Given the description of an element on the screen output the (x, y) to click on. 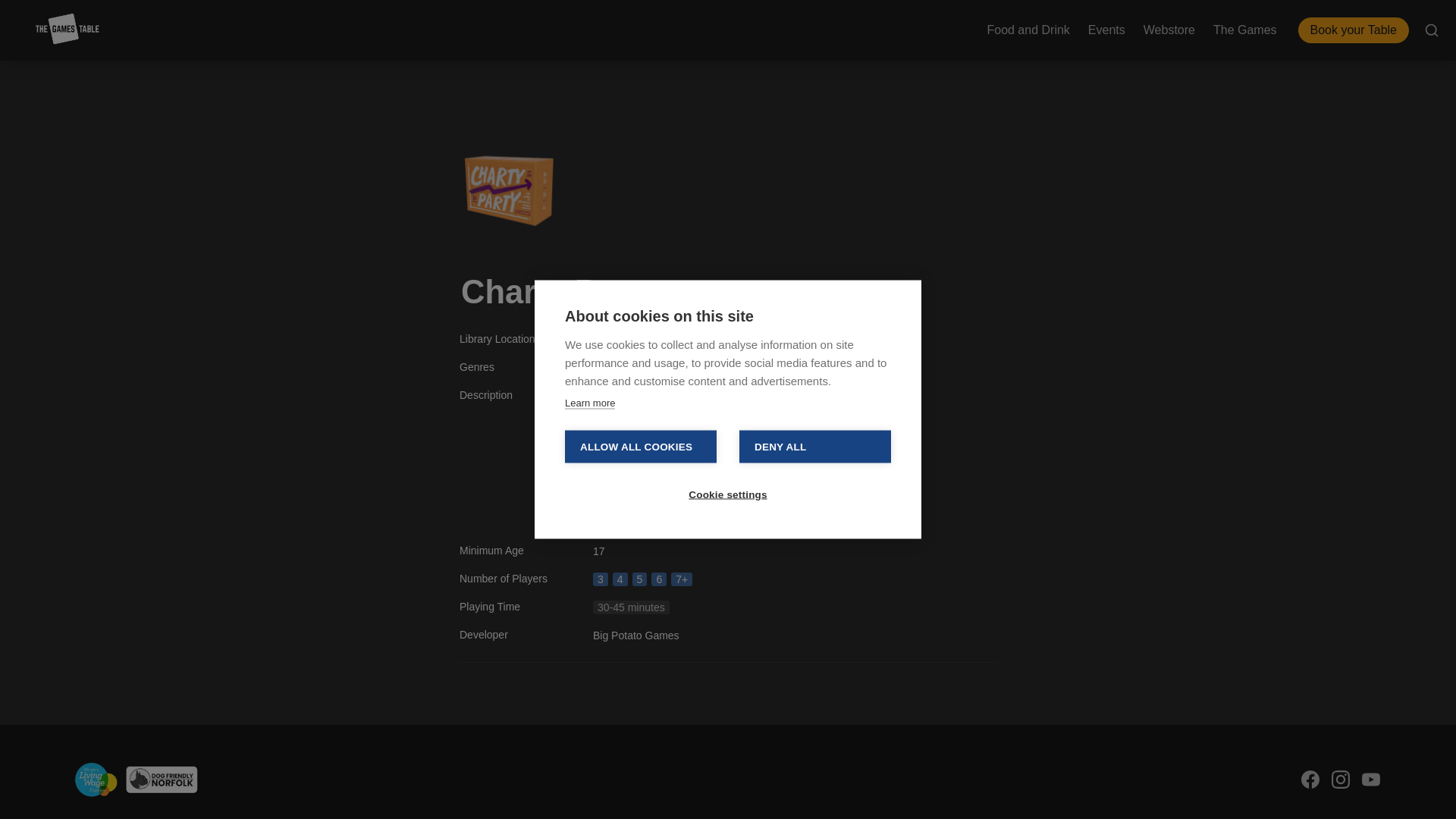
Privacy Policy (219, 817)
DENY ALL (815, 446)
Book your Table (1356, 30)
Legal Disclaimers (121, 817)
Facebook (1310, 779)
Webstore (1169, 30)
The Games (1244, 30)
Terms of Use (304, 817)
YouTube (1370, 779)
YouTube (1370, 779)
Events (1106, 30)
Instagram (1340, 779)
Food and Drink (1027, 30)
Cookie settings (727, 493)
Learn more (589, 403)
